Given the description of an element on the screen output the (x, y) to click on. 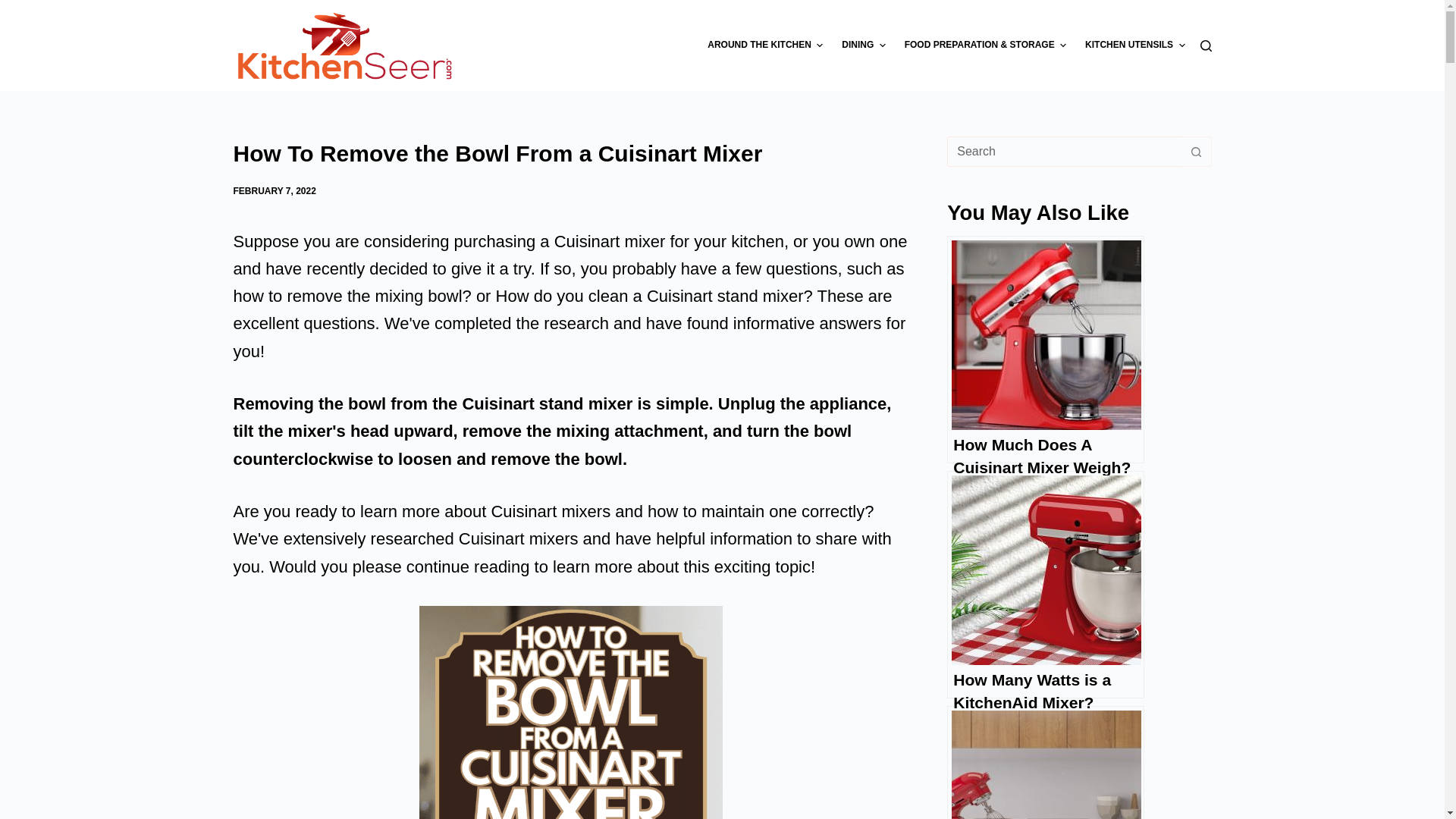
Skip to content (15, 7)
How To Remove the Bowl From a Cuisinart Mixer (570, 153)
Search for... (1063, 151)
